Given the description of an element on the screen output the (x, y) to click on. 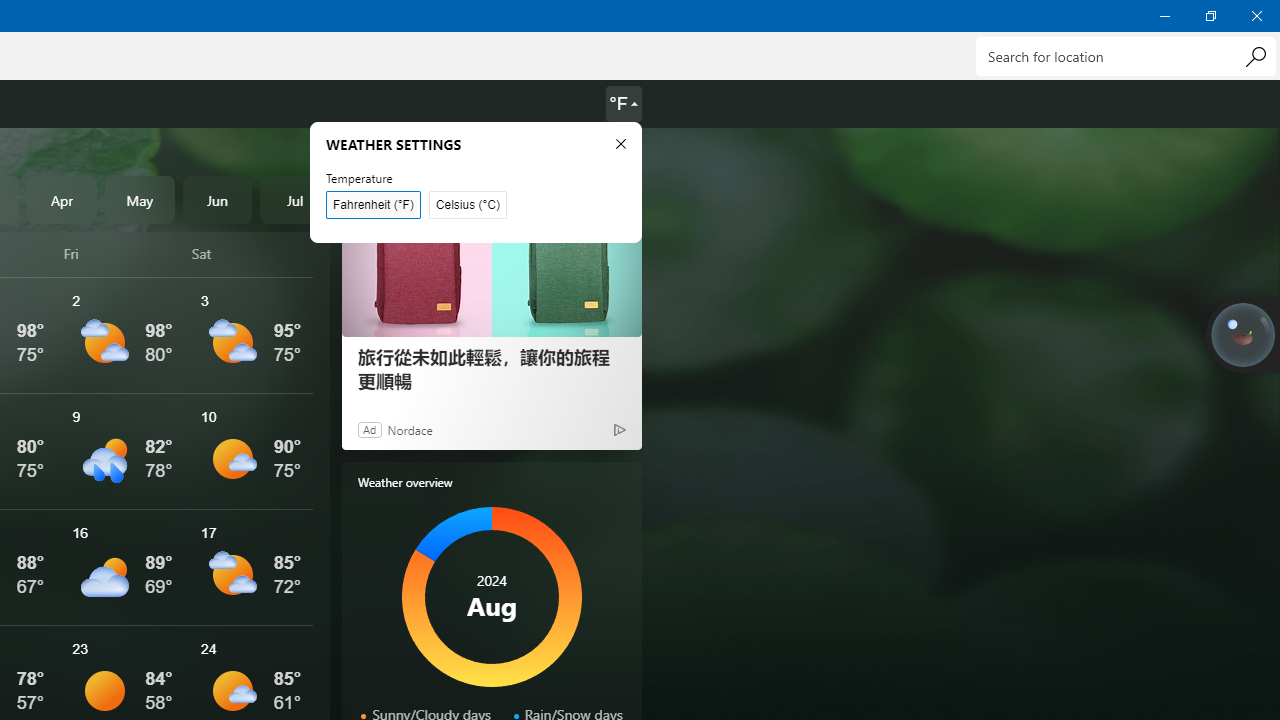
Close Weather (1256, 15)
Search (1255, 56)
Restore Weather (1210, 15)
Minimize Weather (1164, 15)
Search for location (1125, 56)
